Given the description of an element on the screen output the (x, y) to click on. 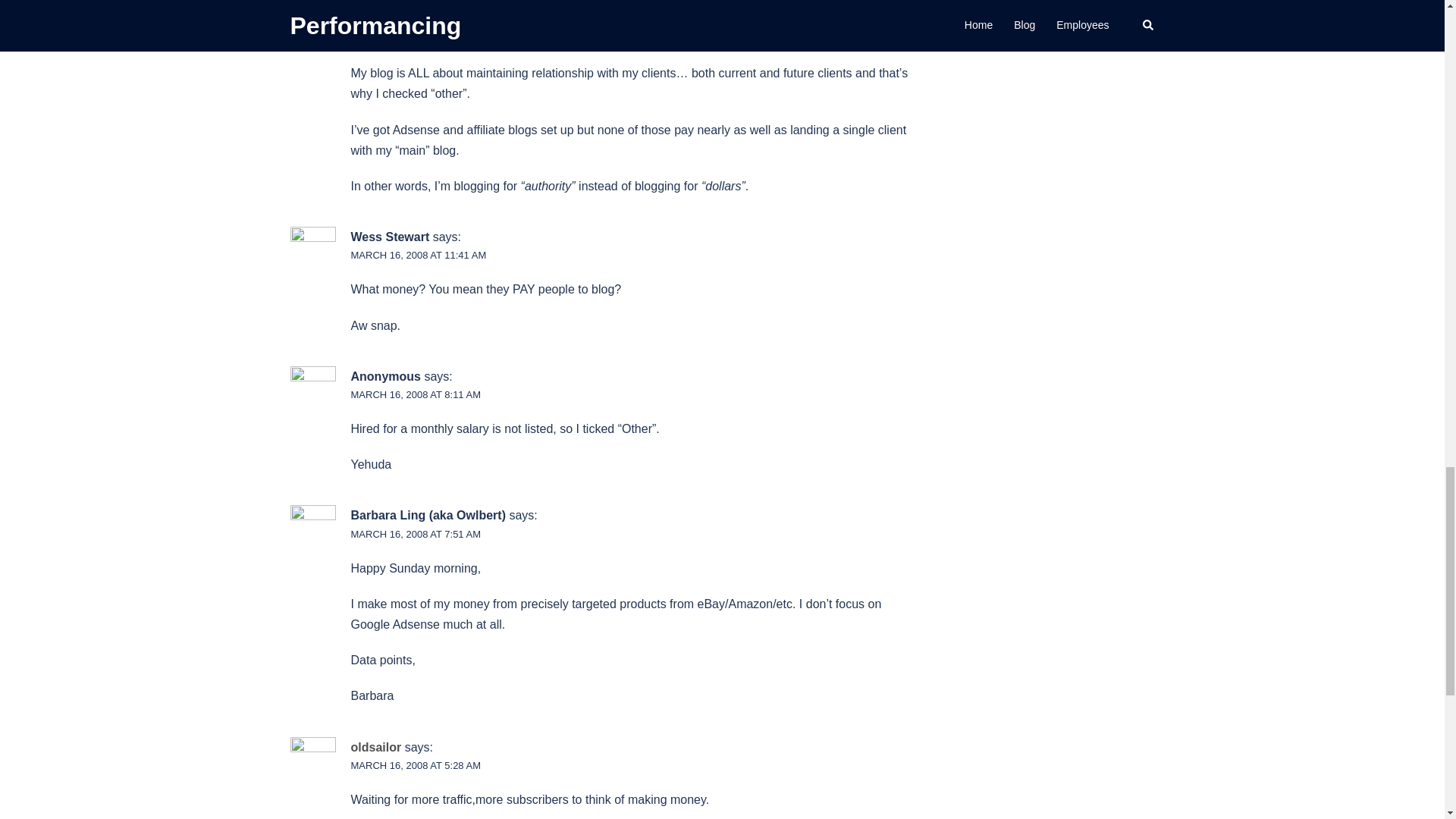
Anonymous (385, 376)
Wess Stewart (389, 236)
MARCH 16, 2008 AT 1:14 PM (415, 39)
Virtual Impax (388, 20)
MARCH 16, 2008 AT 11:41 AM (418, 255)
MARCH 16, 2008 AT 8:11 AM (415, 394)
